Given the description of an element on the screen output the (x, y) to click on. 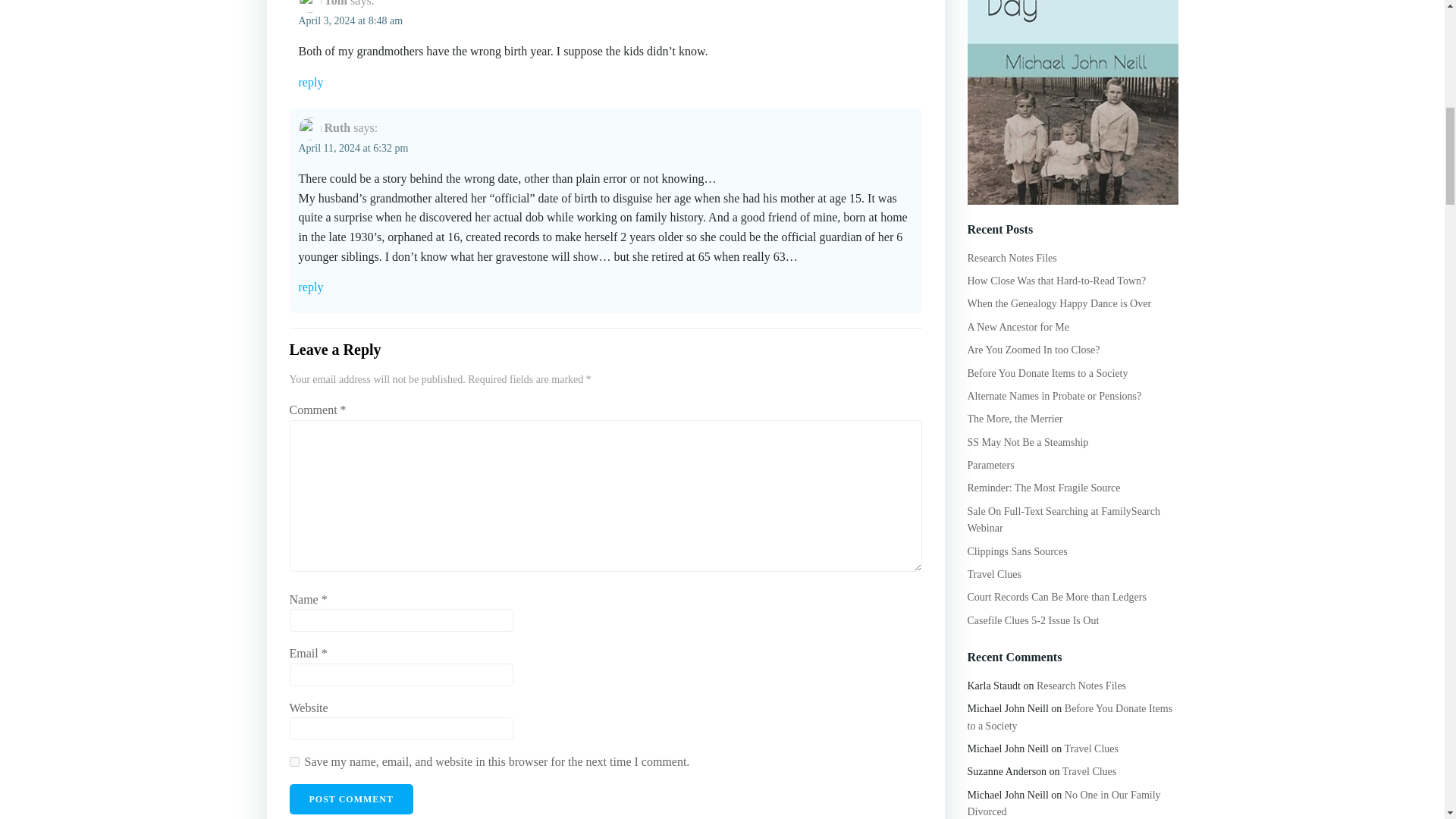
April 11, 2024 at 6:32 pm (353, 147)
yes (294, 761)
reply (605, 82)
Post Comment (351, 798)
April 3, 2024 at 8:48 am (350, 20)
reply (605, 287)
